Given the description of an element on the screen output the (x, y) to click on. 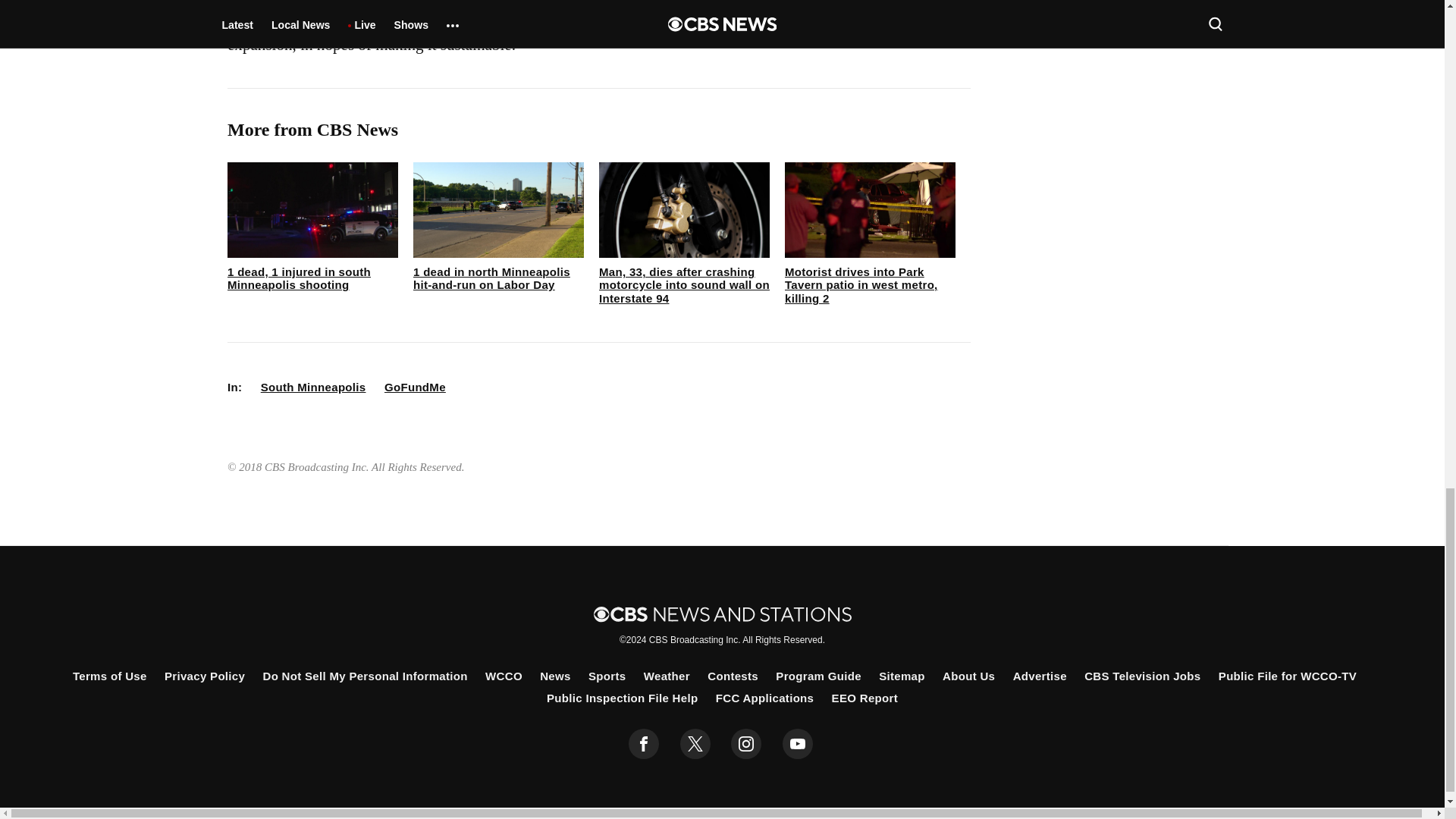
youtube (797, 743)
twitter (694, 743)
facebook (643, 743)
instagram (745, 743)
